Given the description of an element on the screen output the (x, y) to click on. 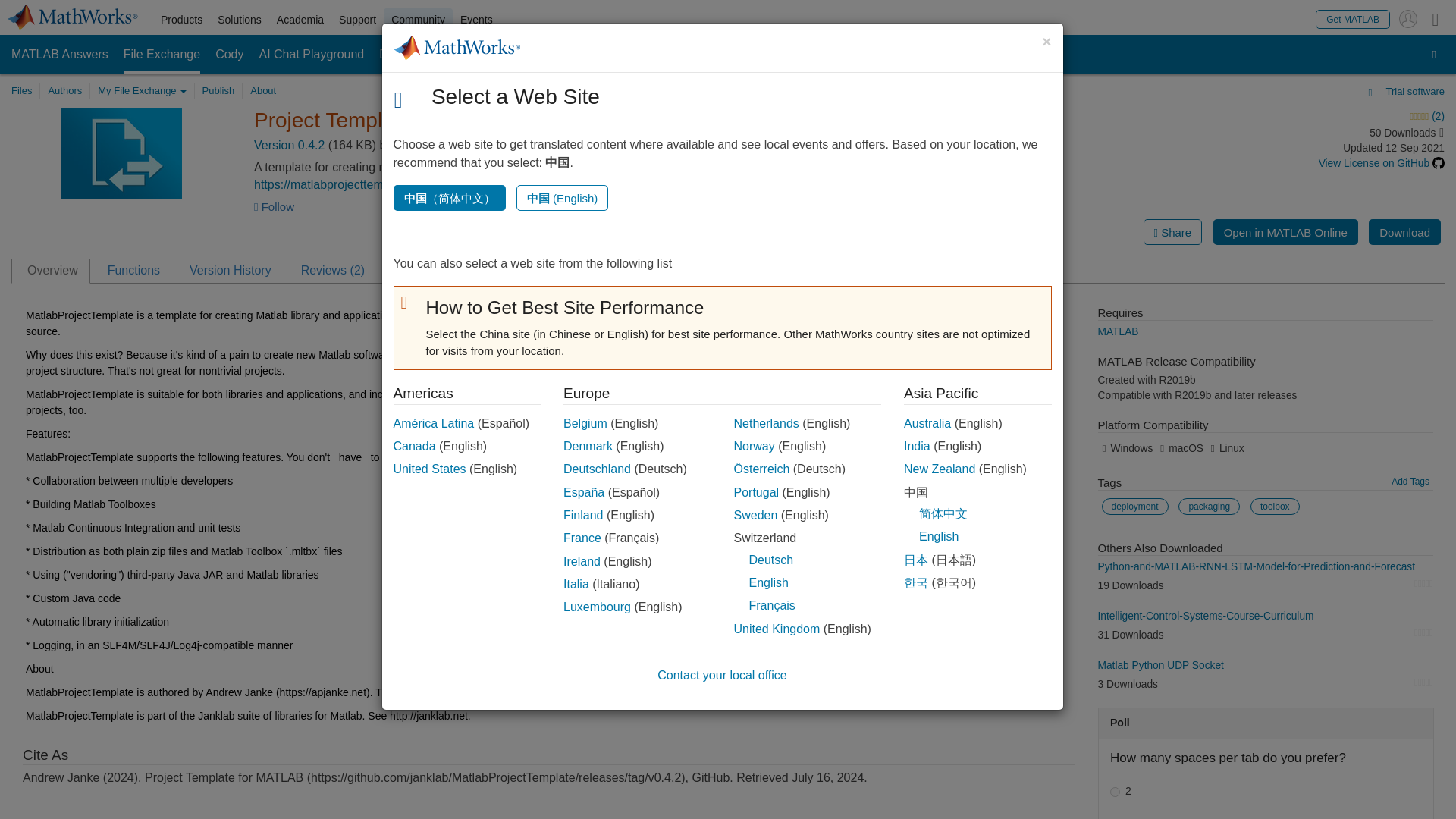
0.00 out of 5 stars (1422, 583)
Support (357, 19)
Community (418, 19)
5.00 out of 5 stars (1303, 116)
Sign In to Your MathWorks Account (1407, 18)
Events (476, 19)
Products (180, 19)
Download (1404, 231)
Get MATLAB (1353, 18)
0.00 out of 5 stars (1422, 682)
Academia (300, 19)
Solutions (239, 19)
0.00 out of 5 stars (1422, 633)
